Given the description of an element on the screen output the (x, y) to click on. 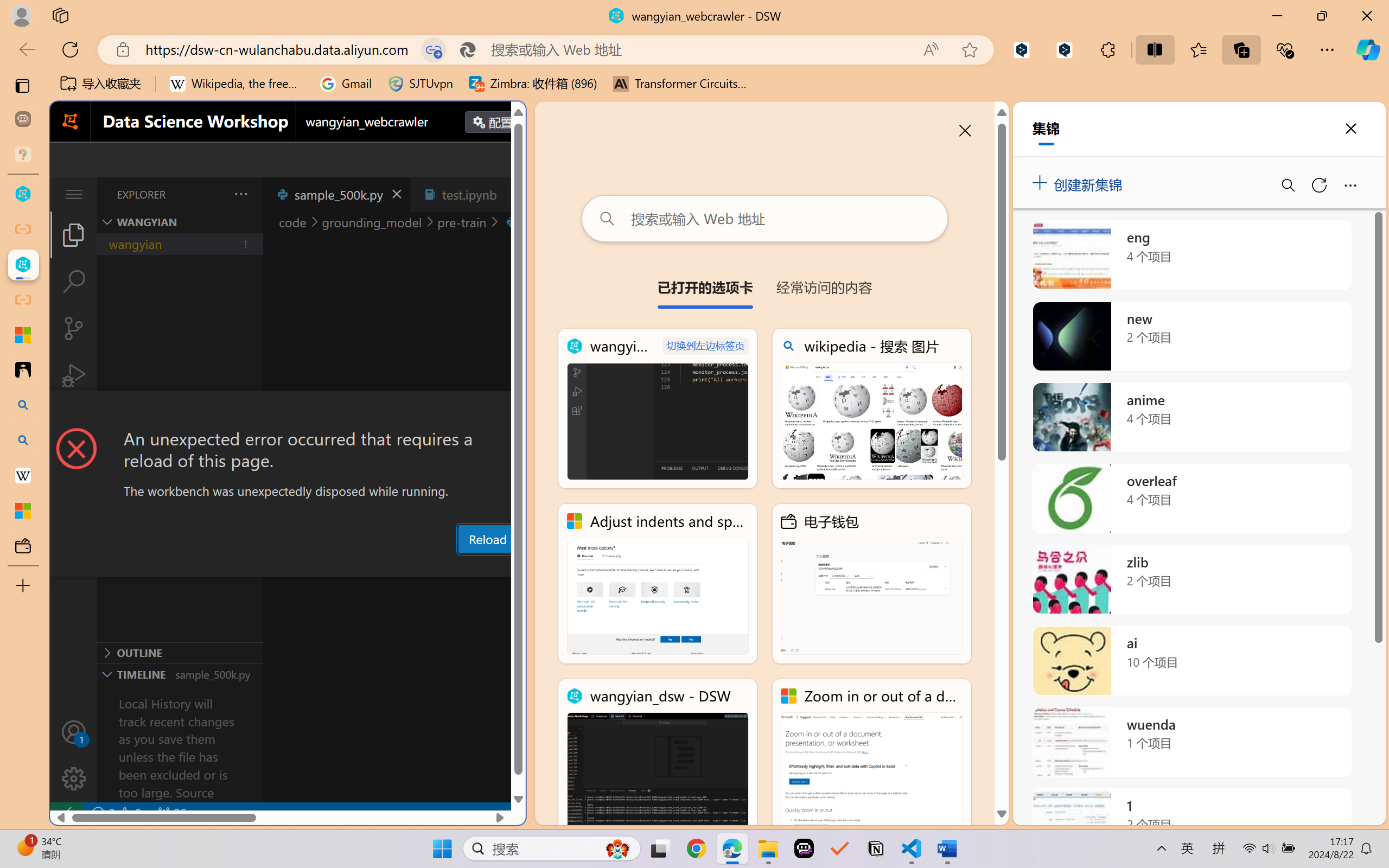
Accounts - Sign in requested (73, 732)
Adjust indents and spacing - Microsoft Support (22, 334)
Class: menubar compact overflow-menu-only (73, 194)
Wikipedia, the free encyclopedia (236, 83)
Explorer Section: wangyian (179, 221)
wangyian_dsw - DSW (22, 194)
